Given the description of an element on the screen output the (x, y) to click on. 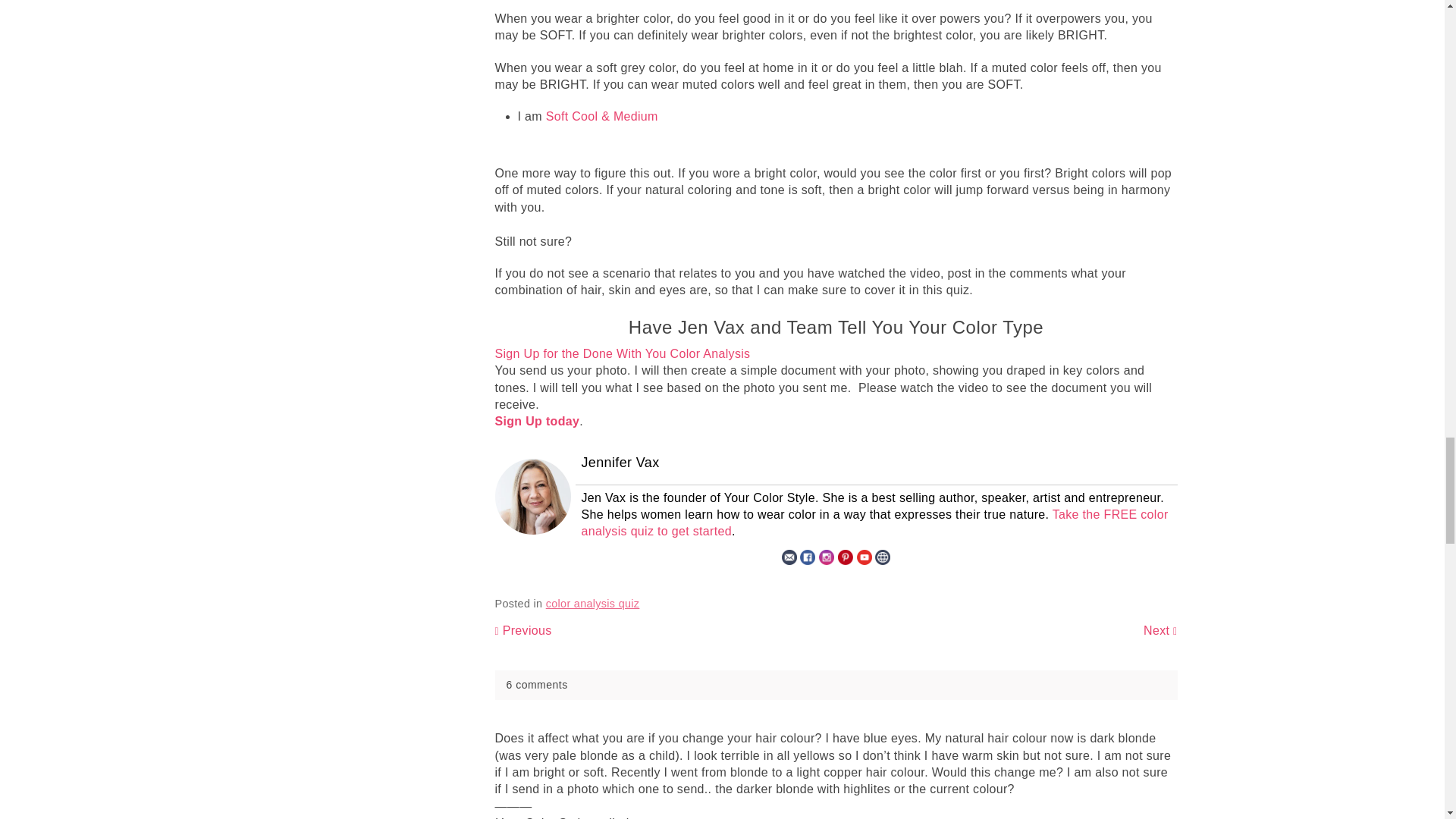
Done With You Color Analysis (835, 354)
YouTube video player (706, 2)
Soft Cool and Medium Explained (599, 116)
